Given the description of an element on the screen output the (x, y) to click on. 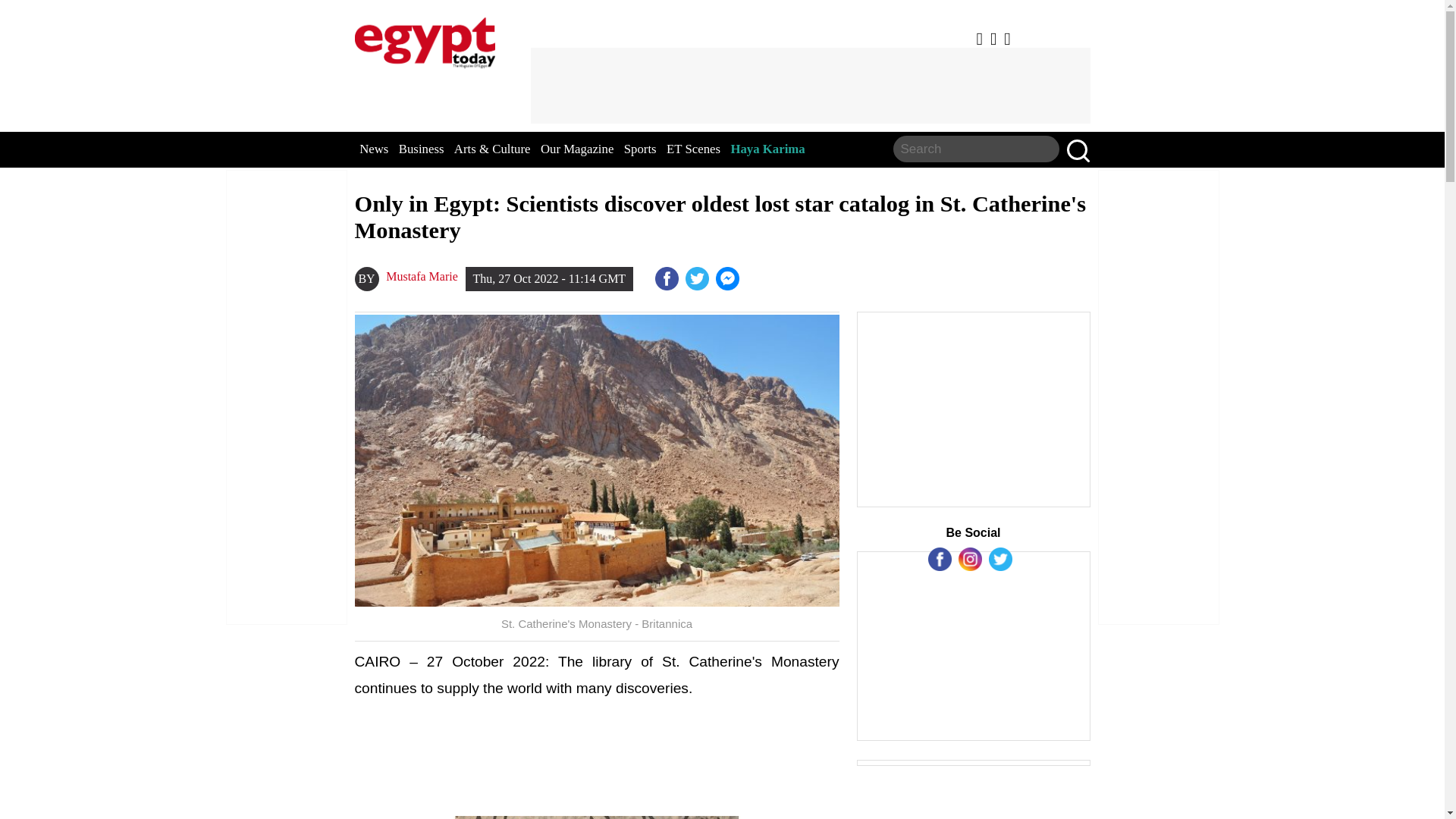
Business (421, 149)
20221026020816816 (596, 817)
Sisi heads to Guinea first destination in overseas tour (729, 278)
EgyptToday (425, 39)
Sports (640, 149)
Haya Karima (767, 149)
Our Magazine (576, 149)
Mustafa Marie (421, 276)
ET Scenes (693, 149)
